Given the description of an element on the screen output the (x, y) to click on. 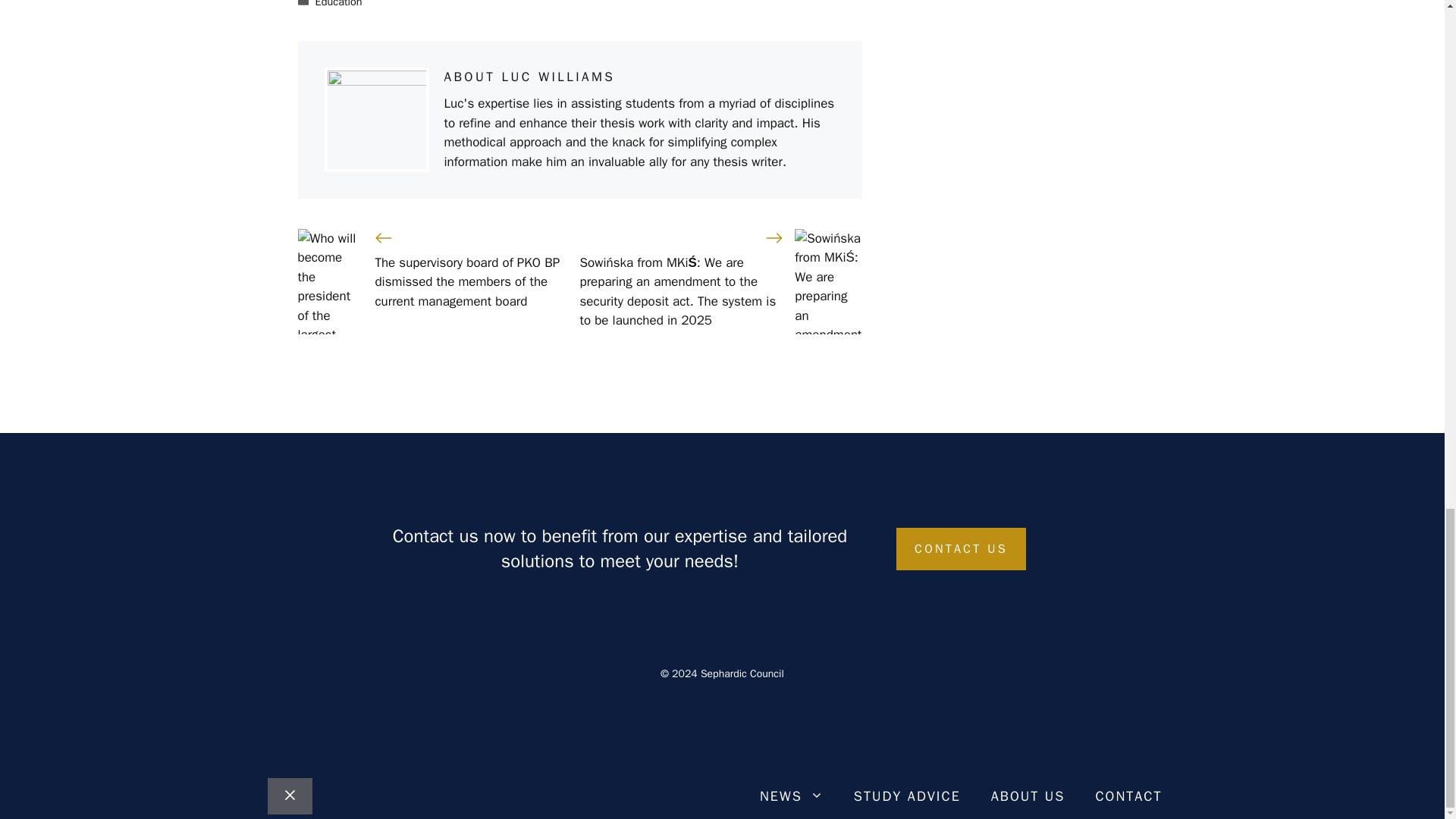
Close (288, 796)
Education (338, 4)
CONTACT US (961, 548)
